Given the description of an element on the screen output the (x, y) to click on. 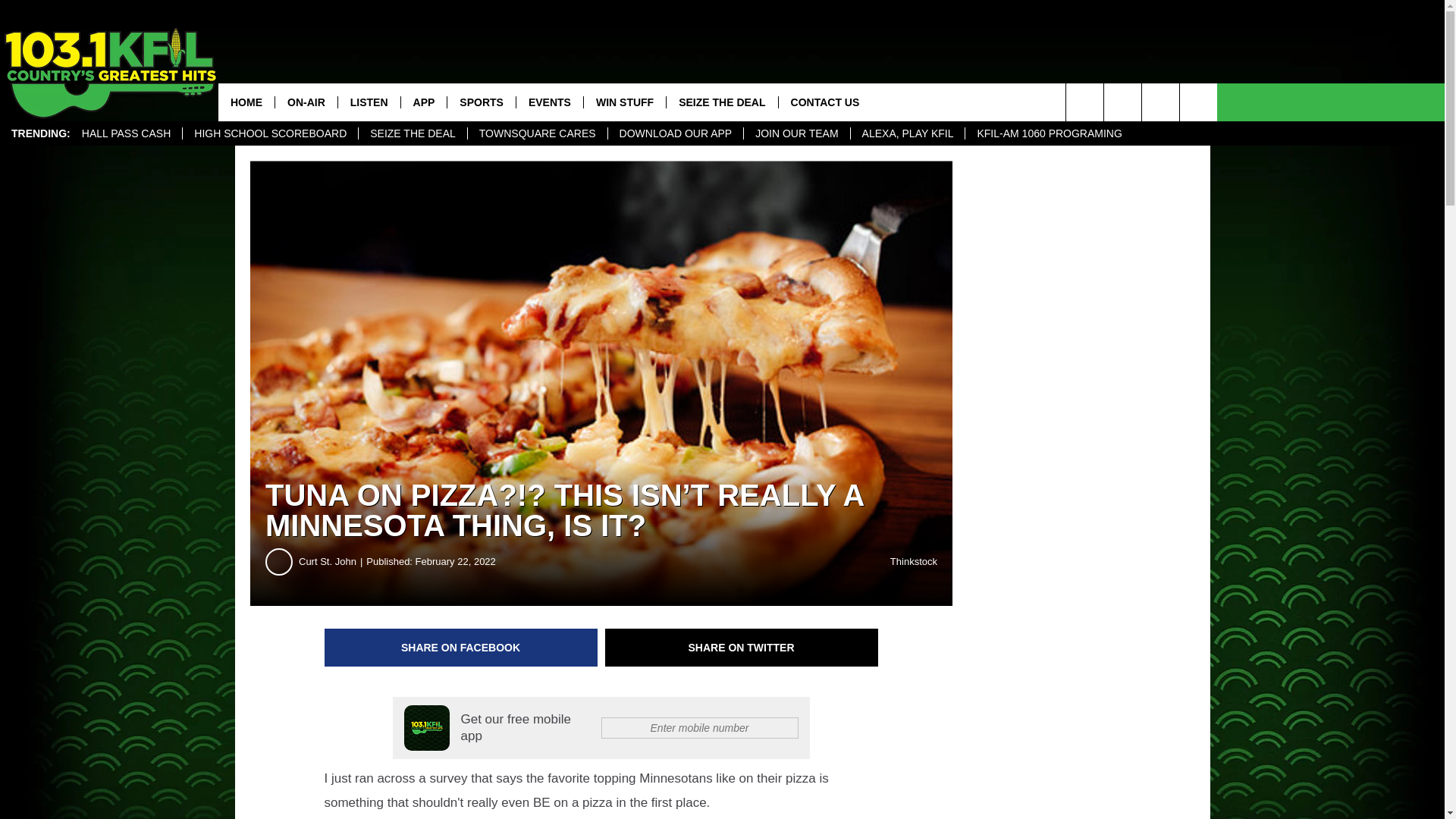
Share on Facebook (460, 647)
JOIN OUR TEAM (795, 133)
LISTEN (368, 102)
ON-AIR (306, 102)
EVENTS (549, 102)
KFIL-AM 1060 PROGRAMING (1047, 133)
HALL PASS CASH (126, 133)
Share on Twitter (741, 647)
SEIZE THE DEAL (412, 133)
HOME (246, 102)
